Given the description of an element on the screen output the (x, y) to click on. 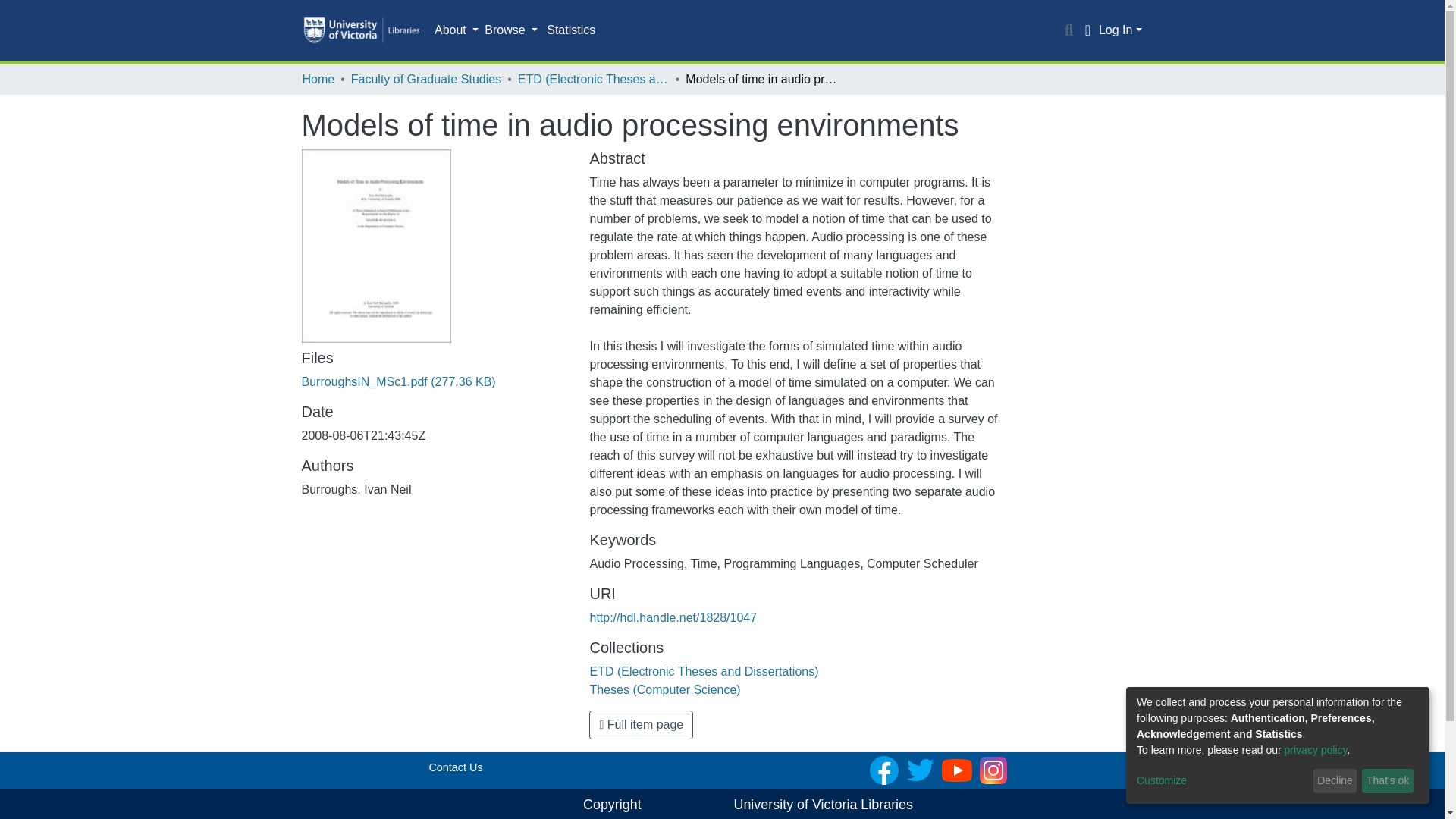
Full item page (641, 724)
Search (1068, 30)
Language switch (1087, 30)
Browse (510, 30)
Faculty of Graduate Studies (425, 79)
Home (317, 79)
Log In (1119, 29)
Contact Us (454, 767)
Statistics (570, 30)
About (455, 30)
Statistics (570, 30)
